Given the description of an element on the screen output the (x, y) to click on. 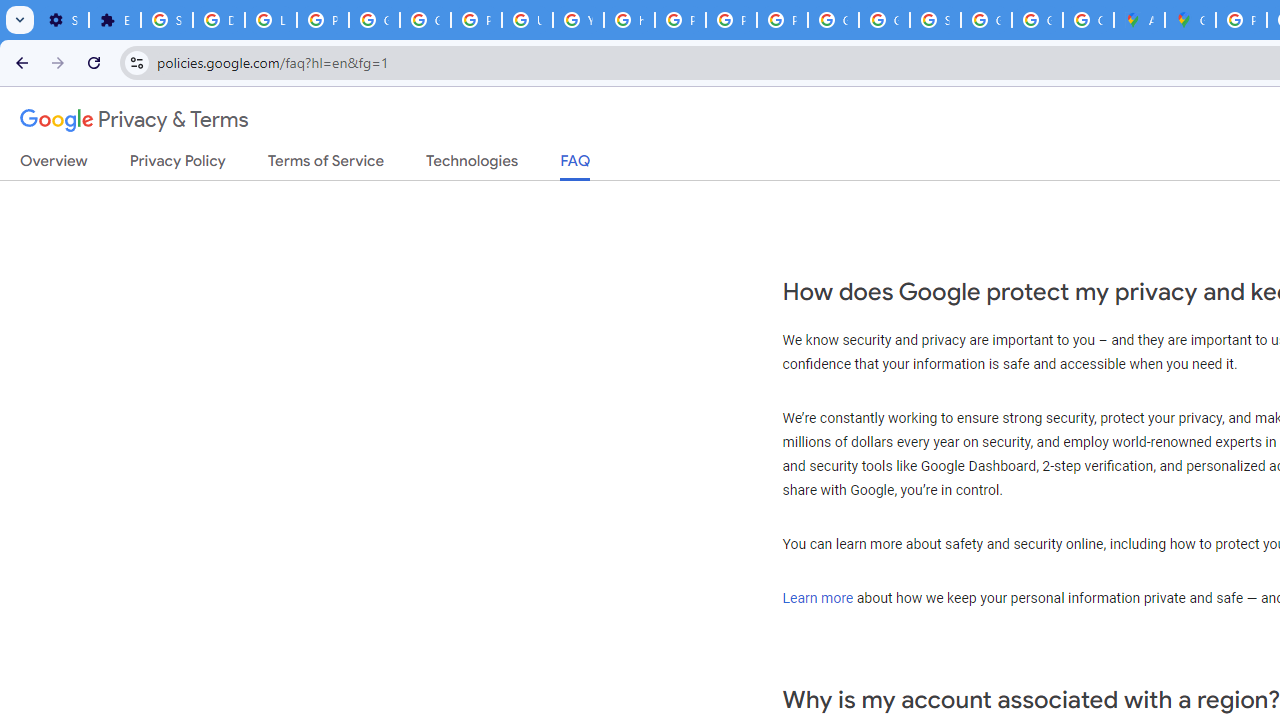
Settings - On startup (63, 20)
https://scholar.google.com/ (629, 20)
